Given the description of an element on the screen output the (x, y) to click on. 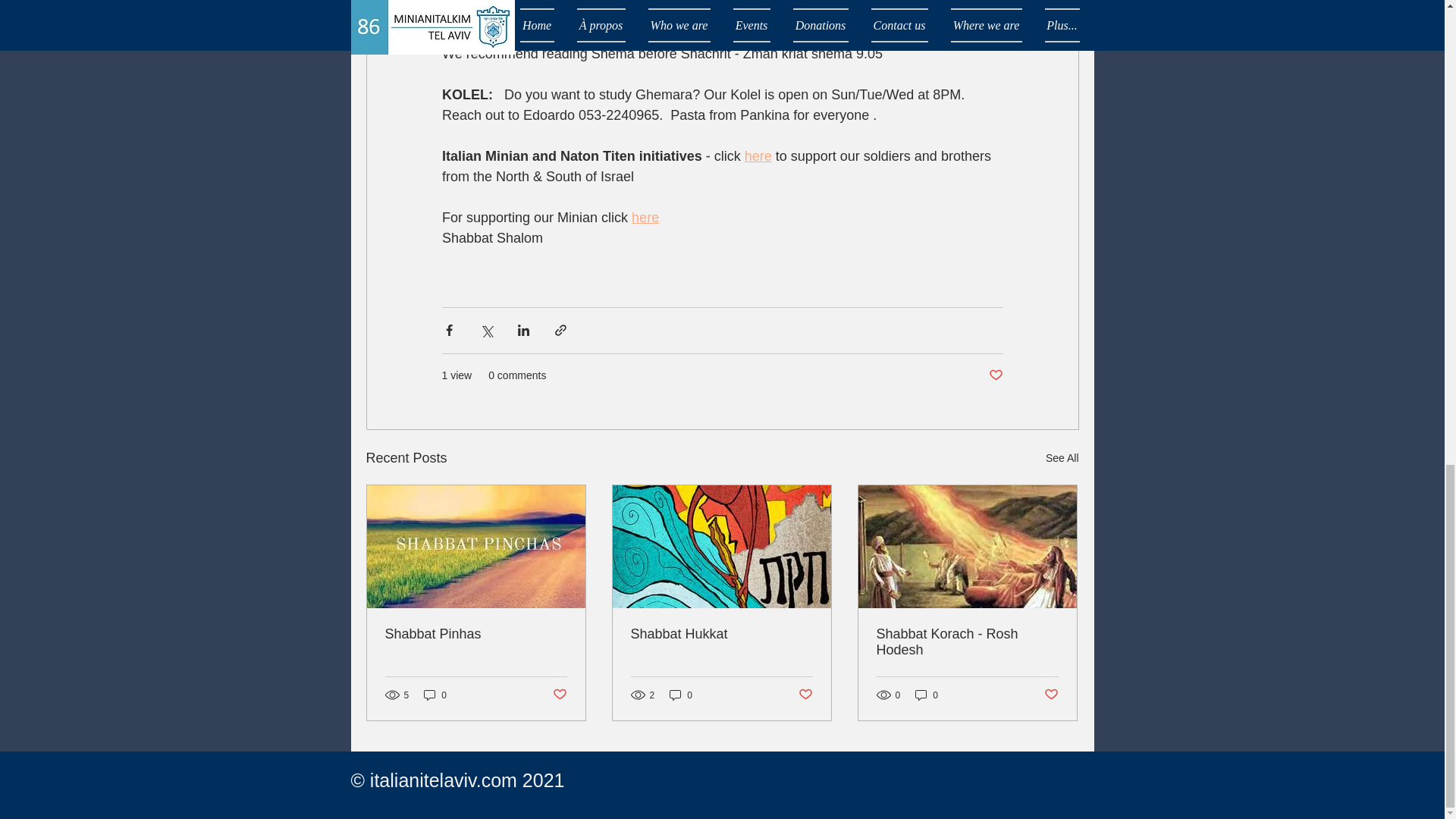
here (645, 217)
Post not marked as liked (558, 694)
0 (681, 694)
0 (926, 694)
Post not marked as liked (804, 694)
0 (435, 694)
here (757, 155)
See All (1061, 458)
Shabbat Korach - Rosh Hodesh (967, 642)
Shabbat Pinhas (476, 634)
